Given the description of an element on the screen output the (x, y) to click on. 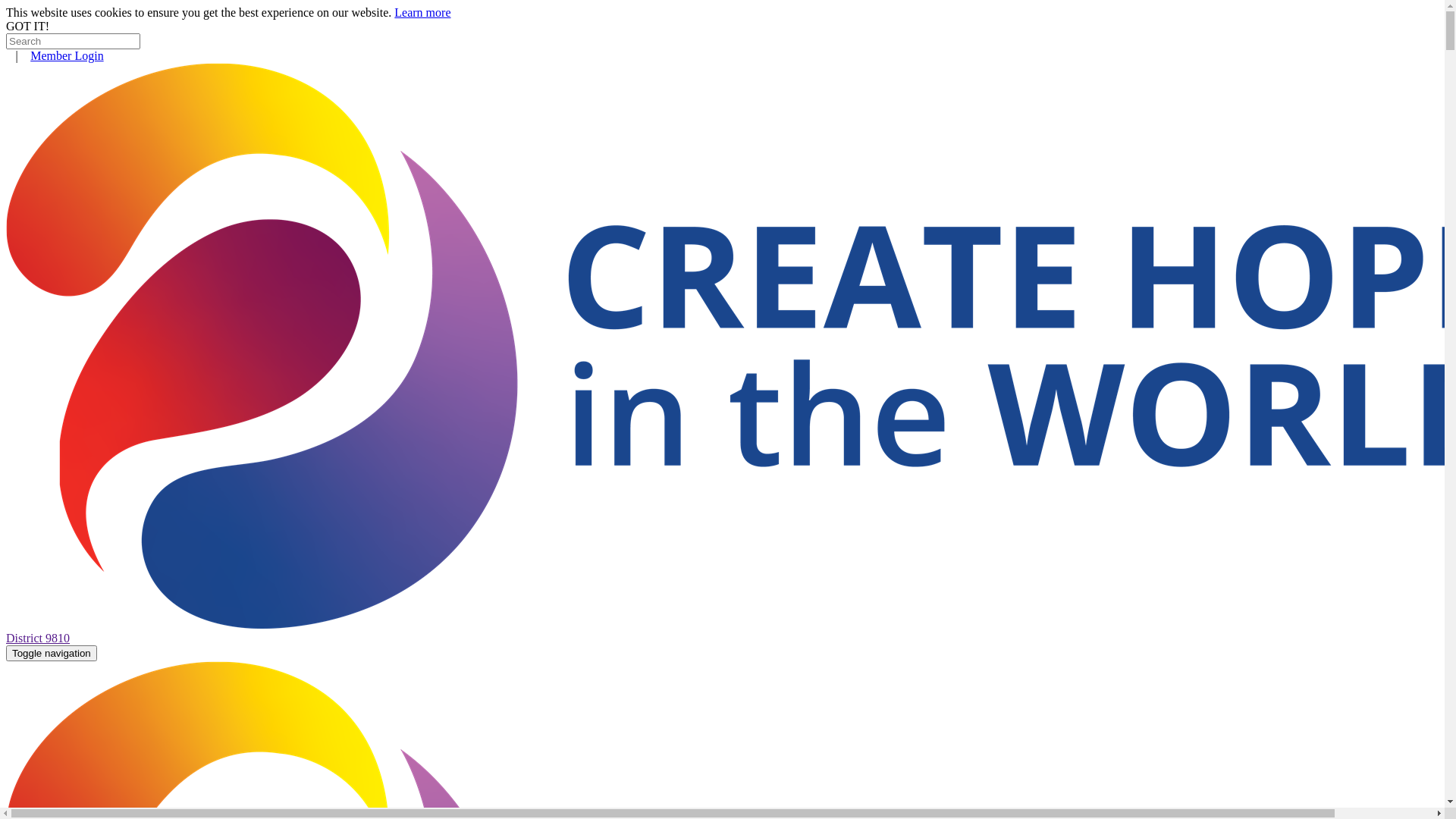
Member Login Element type: text (66, 55)
Learn more Element type: text (422, 12)
GOT IT! Element type: text (27, 25)
Toggle navigation Element type: text (51, 653)
